Given the description of an element on the screen output the (x, y) to click on. 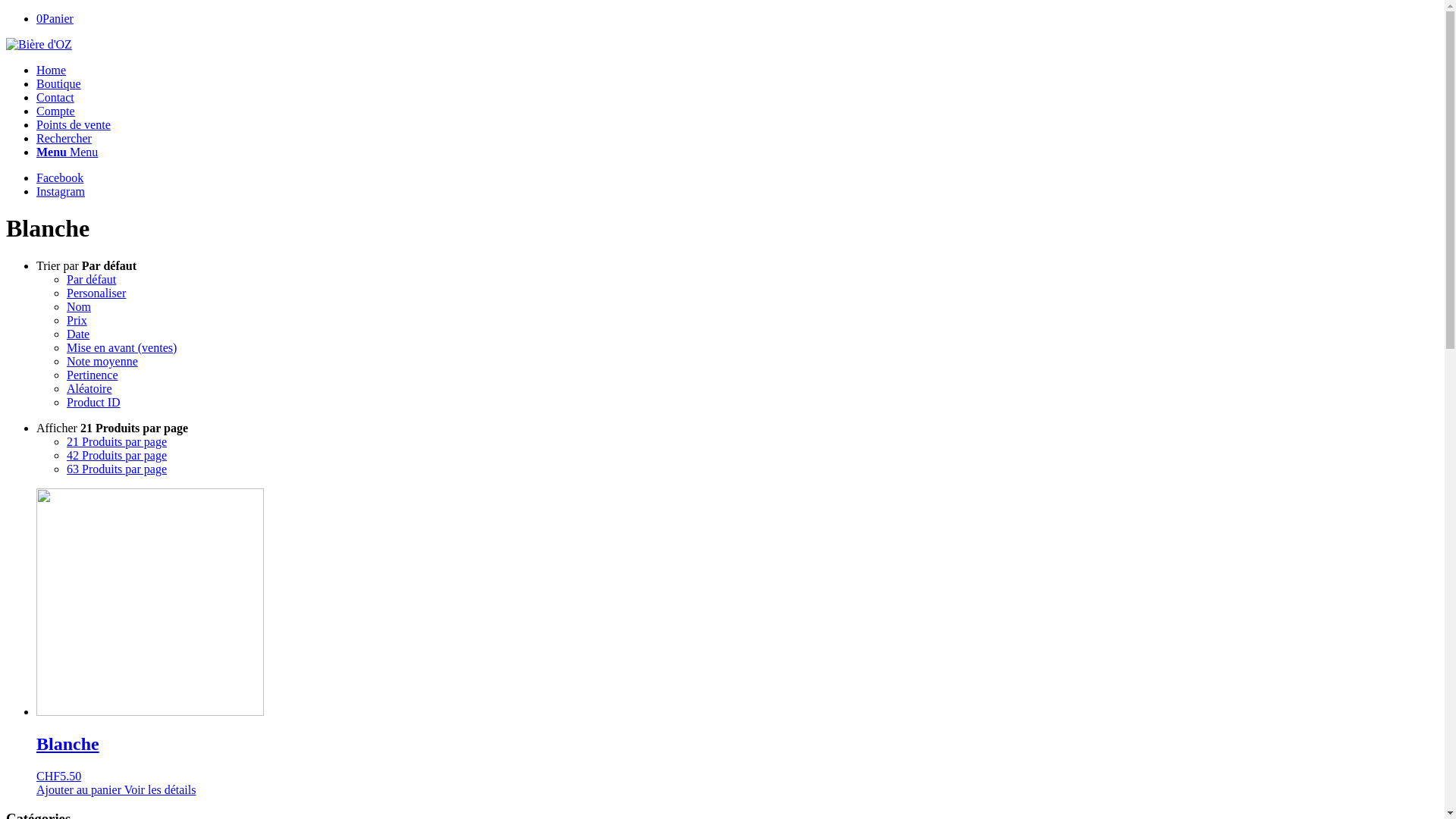
42 Produits par page Element type: text (116, 454)
63 Produits par page Element type: text (116, 468)
Points de vente Element type: text (73, 124)
Date Element type: text (77, 333)
Prix Element type: text (76, 319)
Instagram Element type: text (60, 191)
Nom Element type: text (78, 306)
Pertinence Element type: text (92, 374)
Personaliser Element type: text (95, 292)
21 Produits par page Element type: text (116, 441)
Logo-7 Element type: hover (39, 44)
Facebook Element type: text (59, 177)
0Panier Element type: text (54, 18)
Menu Menu Element type: text (66, 151)
Boutique Element type: text (58, 83)
Mise en avant (ventes) Element type: text (121, 347)
Blanche
CHF5.50 Element type: text (737, 635)
Compte Element type: text (55, 110)
Home Element type: text (50, 69)
Rechercher Element type: text (63, 137)
Note moyenne Element type: text (102, 360)
Ajouter au panier Element type: text (78, 789)
Contact Element type: text (55, 97)
Product ID Element type: text (93, 401)
